Given the description of an element on the screen output the (x, y) to click on. 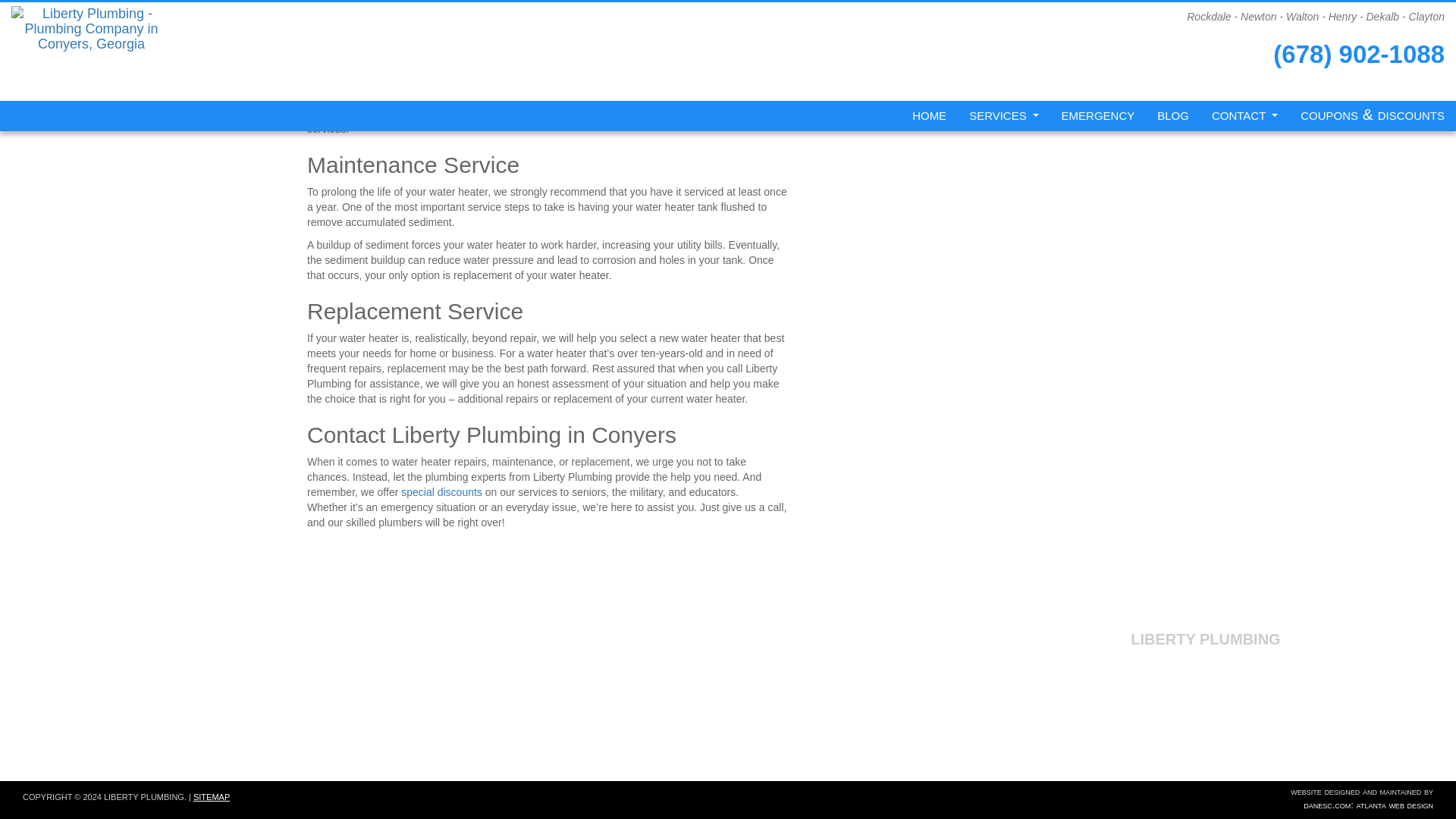
General Plumbing Repair (250, 631)
danesc.com (1327, 804)
Frozen Pipe Repair (249, 679)
SITEMAP (211, 796)
General Plumbing Repair (250, 631)
Water Leak Detection Services (249, 695)
atlanta web design (1394, 804)
special discounts (441, 491)
libertyplumbingatlanta.com (1205, 655)
